Given the description of an element on the screen output the (x, y) to click on. 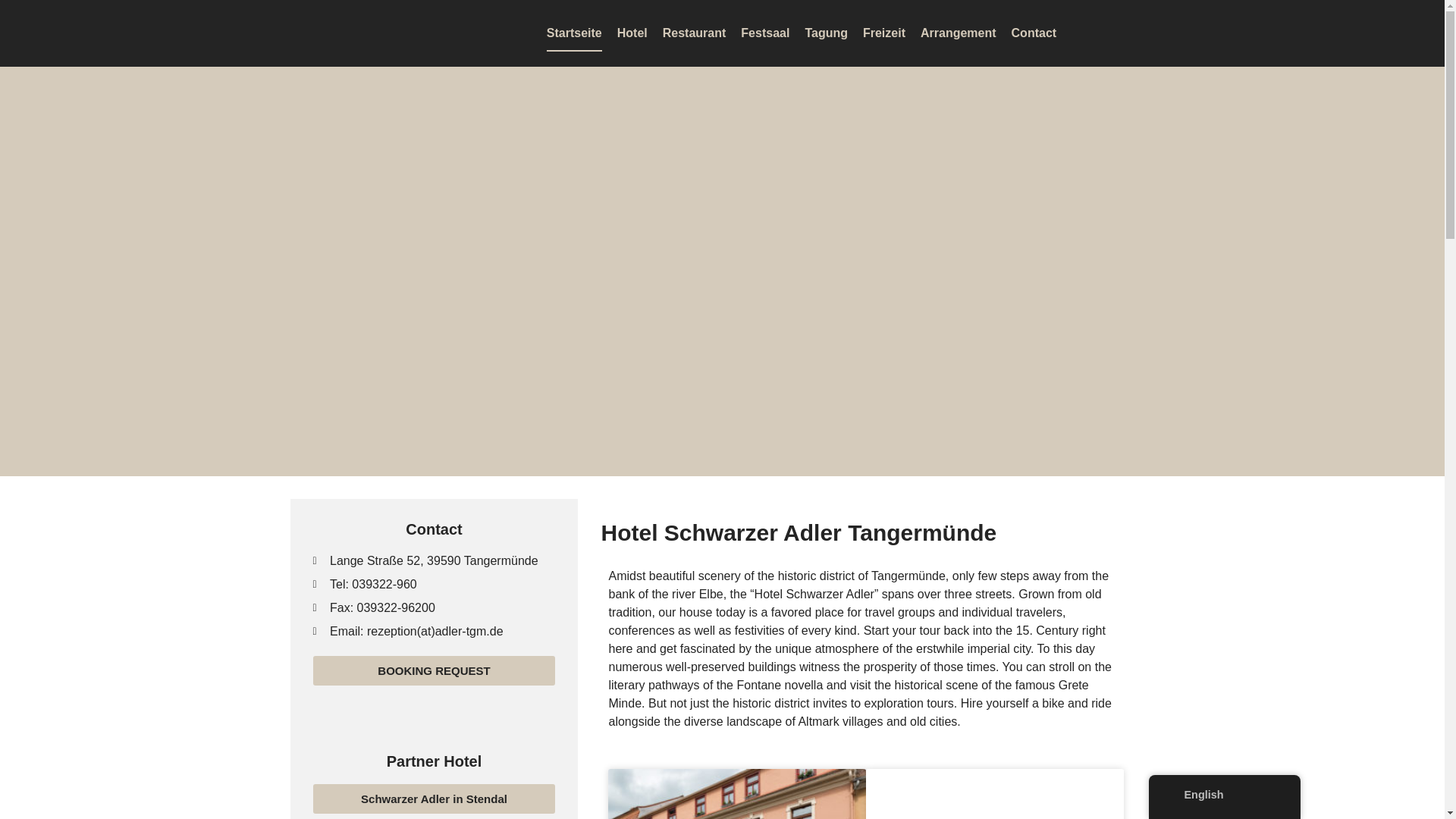
Arrangement (957, 33)
Festsaal (765, 33)
Startseite (574, 33)
Tagung (826, 33)
Freizeit (884, 33)
Contact (1034, 33)
Restaurant (694, 33)
